Given the description of an element on the screen output the (x, y) to click on. 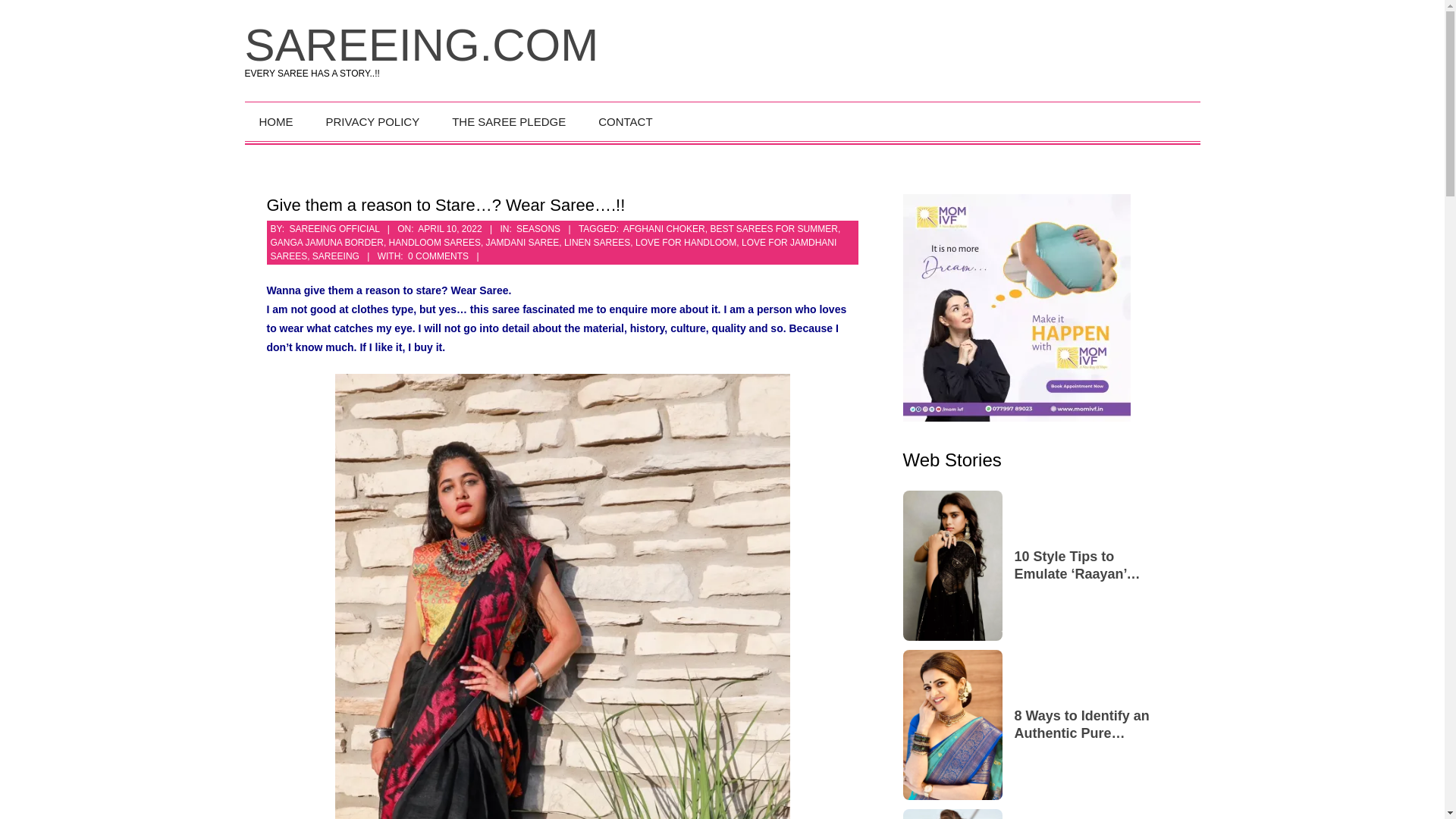
Sunday, April 10, 2022, 6:35 pm (449, 228)
LOVE FOR JAMDHANI SAREES (552, 249)
HOME (277, 121)
CONTACT (626, 121)
GANGA JAMUNA BORDER (325, 242)
HANDLOOM SAREES (434, 242)
JAMDANI SAREE (522, 242)
PRIVACY POLICY (374, 121)
SAREEING OFFICIAL (334, 228)
THE SAREE PLEDGE (510, 121)
LINEN SAREES (597, 242)
Posts by Sareeing Official (334, 228)
BEST SAREES FOR SUMMER (773, 228)
SEASONS (538, 228)
SAREEING (336, 255)
